Given the description of an element on the screen output the (x, y) to click on. 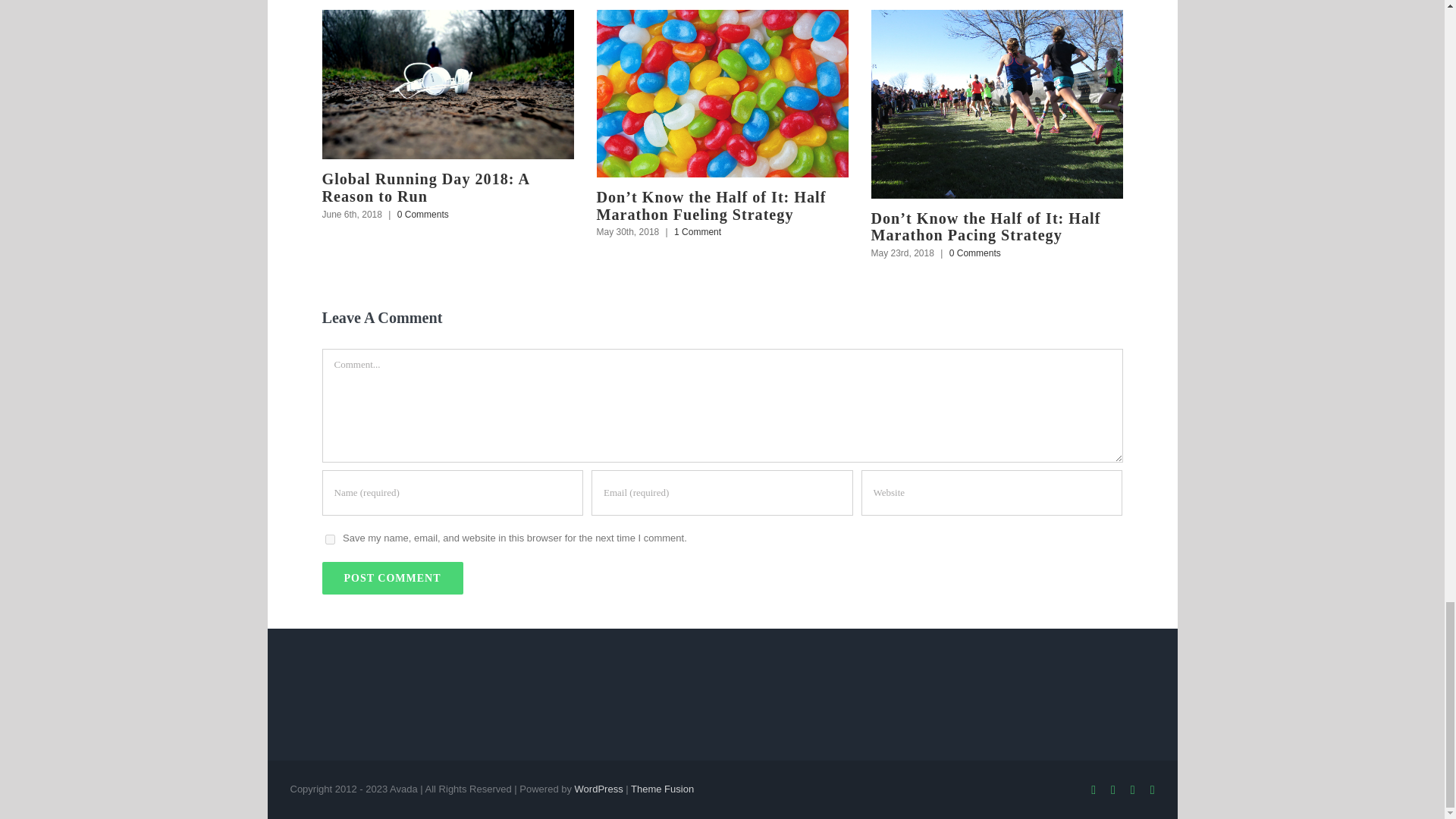
1 Comment (697, 231)
WordPress (599, 788)
Global Running Day 2018: A Reason to Run (424, 187)
yes (329, 539)
0 Comments (975, 253)
Post Comment (392, 577)
Post Comment (392, 577)
Theme Fusion (662, 788)
Global Running Day 2018: A Reason to Run (424, 187)
0 Comments (422, 214)
